Given the description of an element on the screen output the (x, y) to click on. 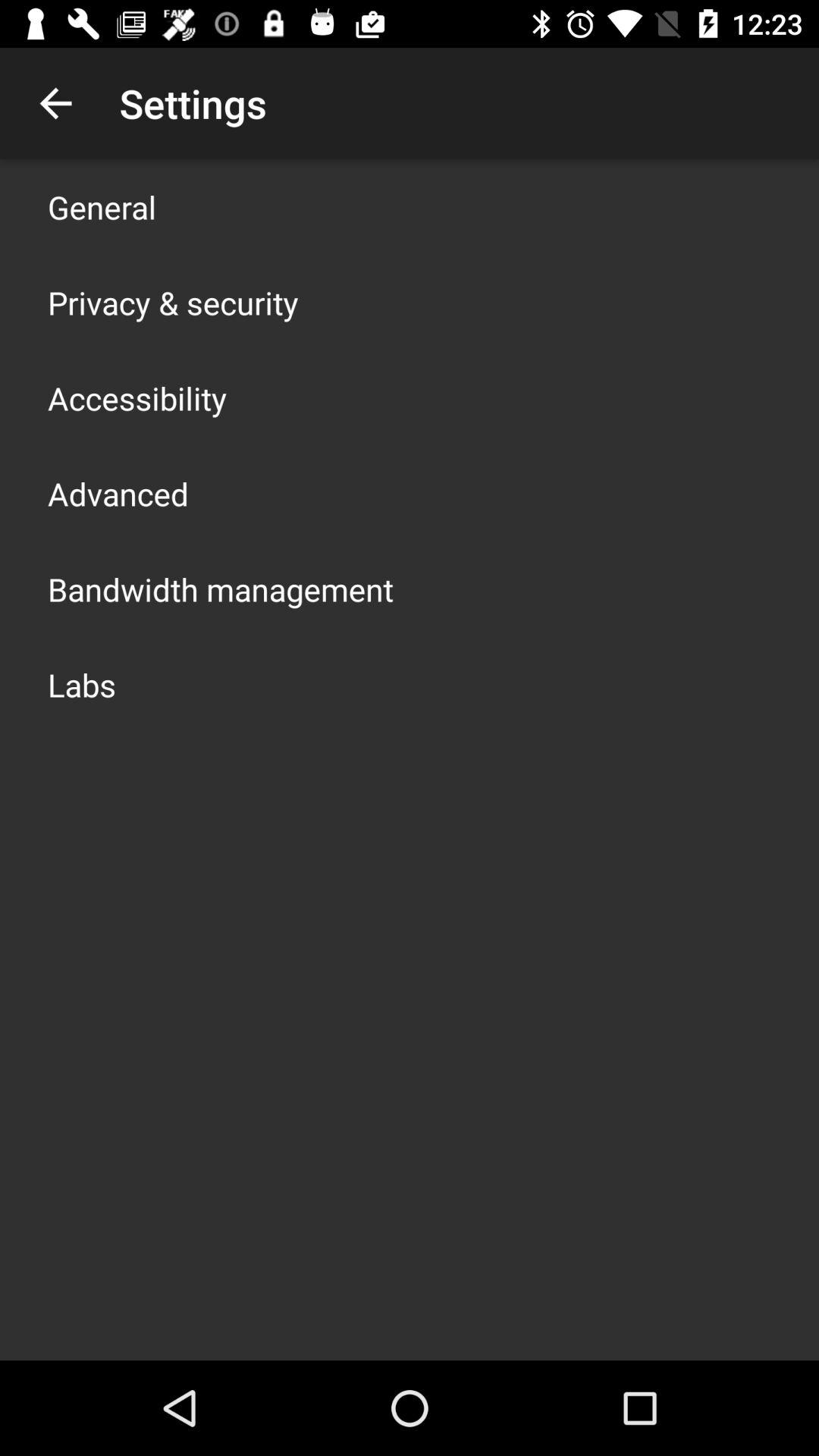
flip until bandwidth management item (220, 588)
